Given the description of an element on the screen output the (x, y) to click on. 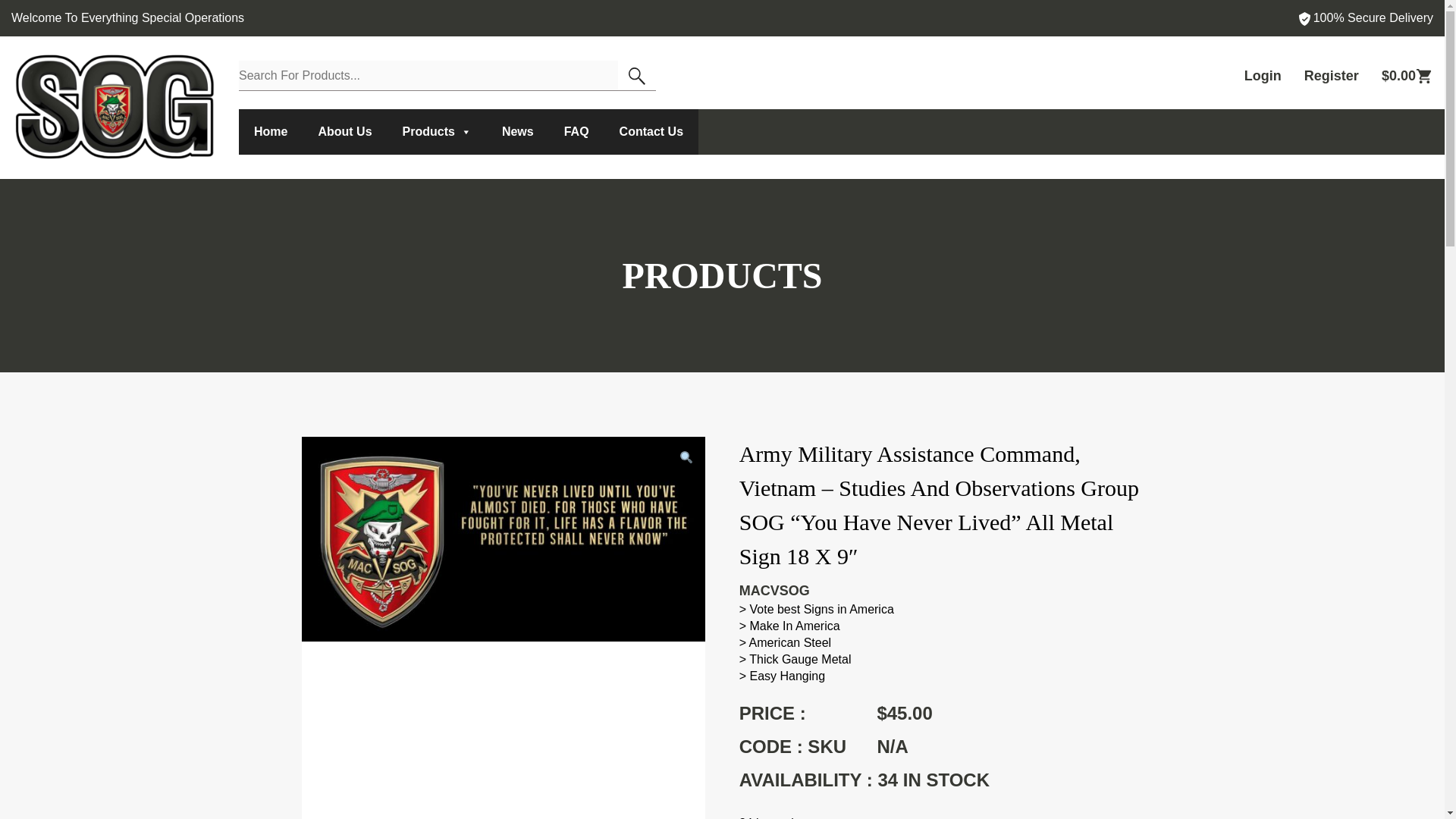
About Us (344, 131)
Products (436, 131)
View your shopping cart (1406, 75)
Home (270, 131)
Contact Us (651, 131)
News (517, 131)
Login (1262, 75)
FAQ (576, 131)
Register (1331, 75)
